Given the description of an element on the screen output the (x, y) to click on. 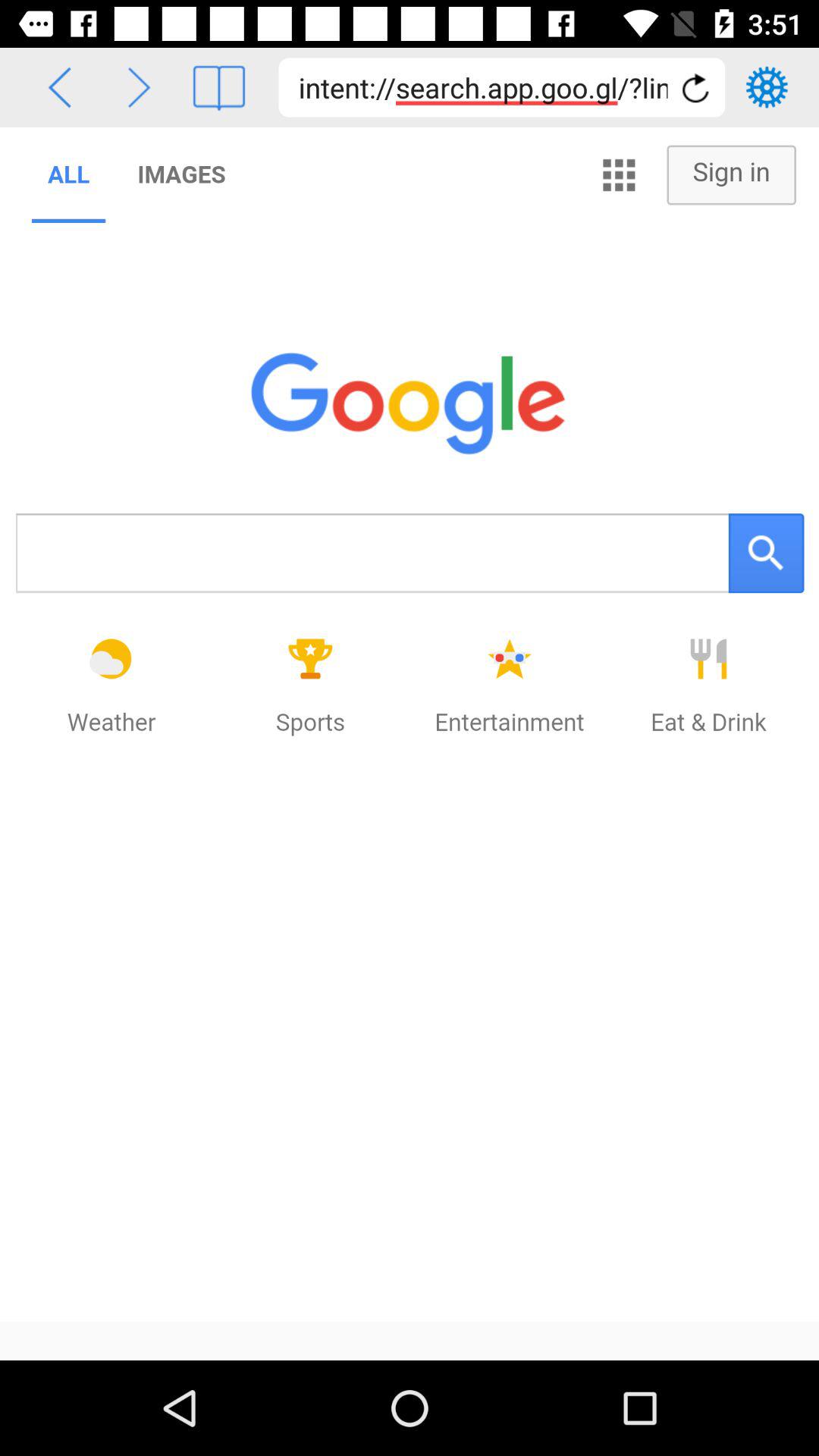
go back (59, 87)
